Given the description of an element on the screen output the (x, y) to click on. 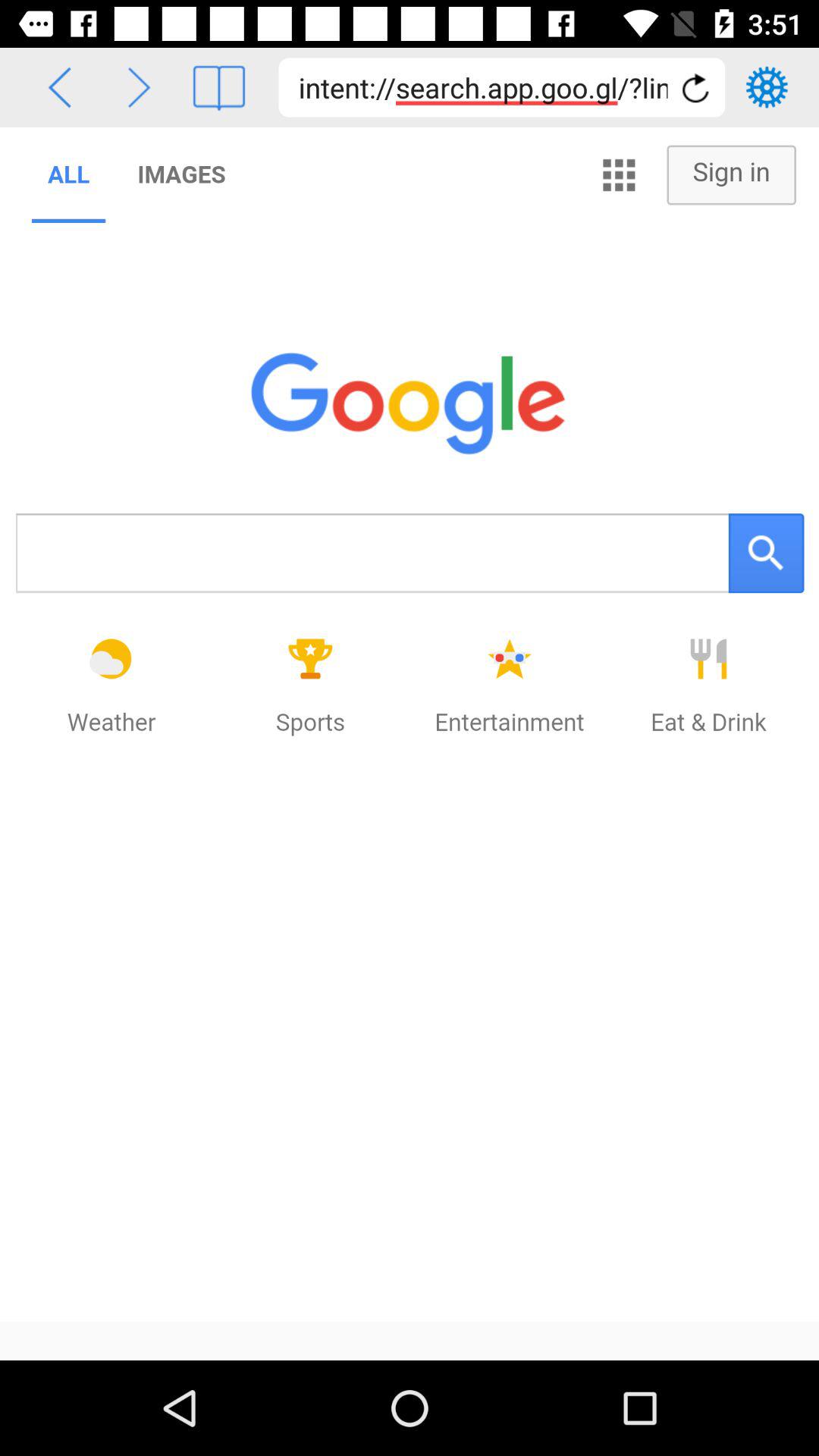
go back (59, 87)
